Given the description of an element on the screen output the (x, y) to click on. 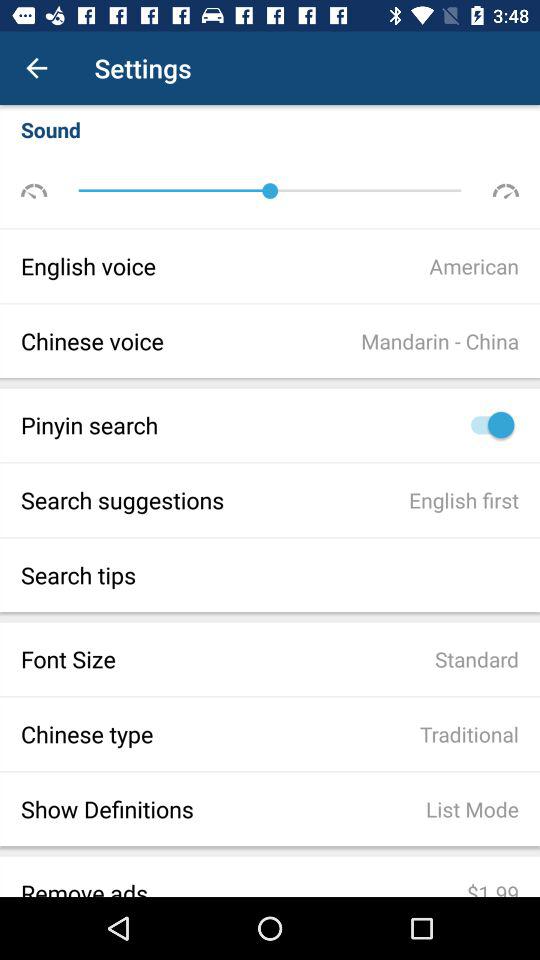
turn on pinyin search (487, 424)
